Given the description of an element on the screen output the (x, y) to click on. 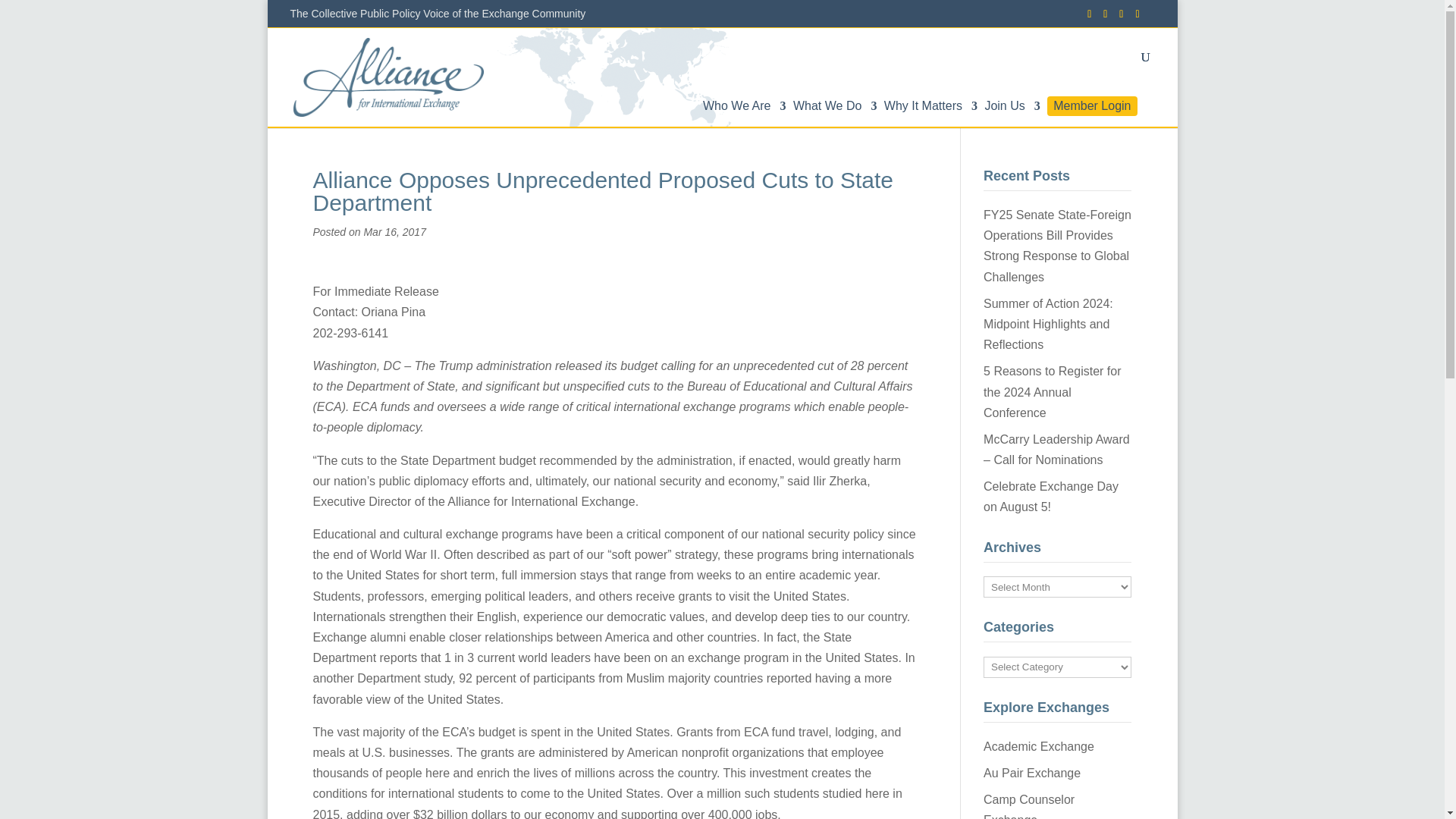
What We Do (834, 113)
Why It Matters (929, 113)
Who We Are (744, 113)
